Given the description of an element on the screen output the (x, y) to click on. 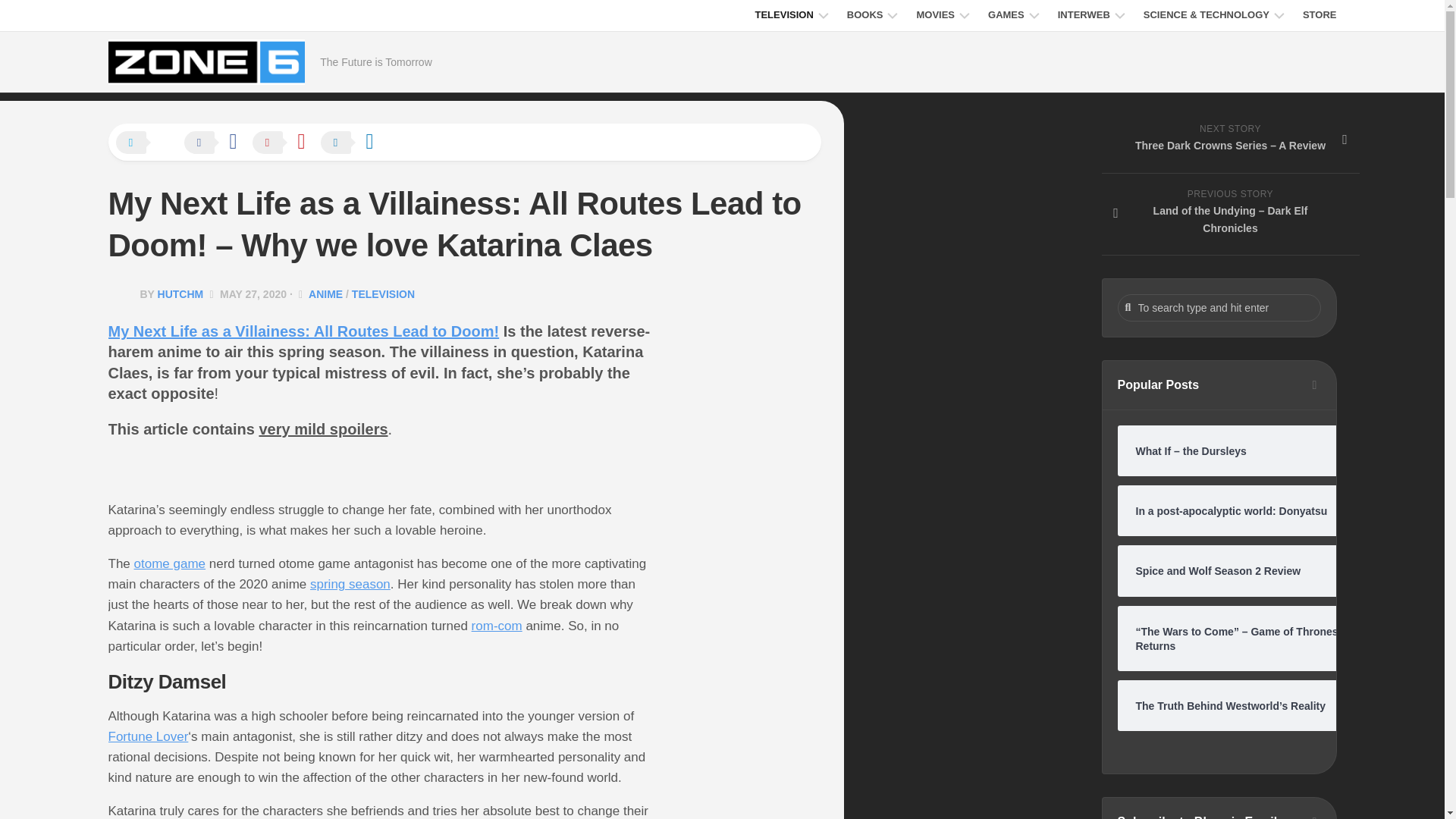
Share on LinkedIn (354, 143)
Posts by hutchm (180, 294)
Share on X (149, 143)
Share on Facebook (217, 143)
TELEVISION (783, 14)
BOOKS (865, 14)
Share on Pinterest (285, 143)
To search type and hit enter (1219, 307)
To search type and hit enter (1219, 307)
MOVIES (935, 14)
